Given the description of an element on the screen output the (x, y) to click on. 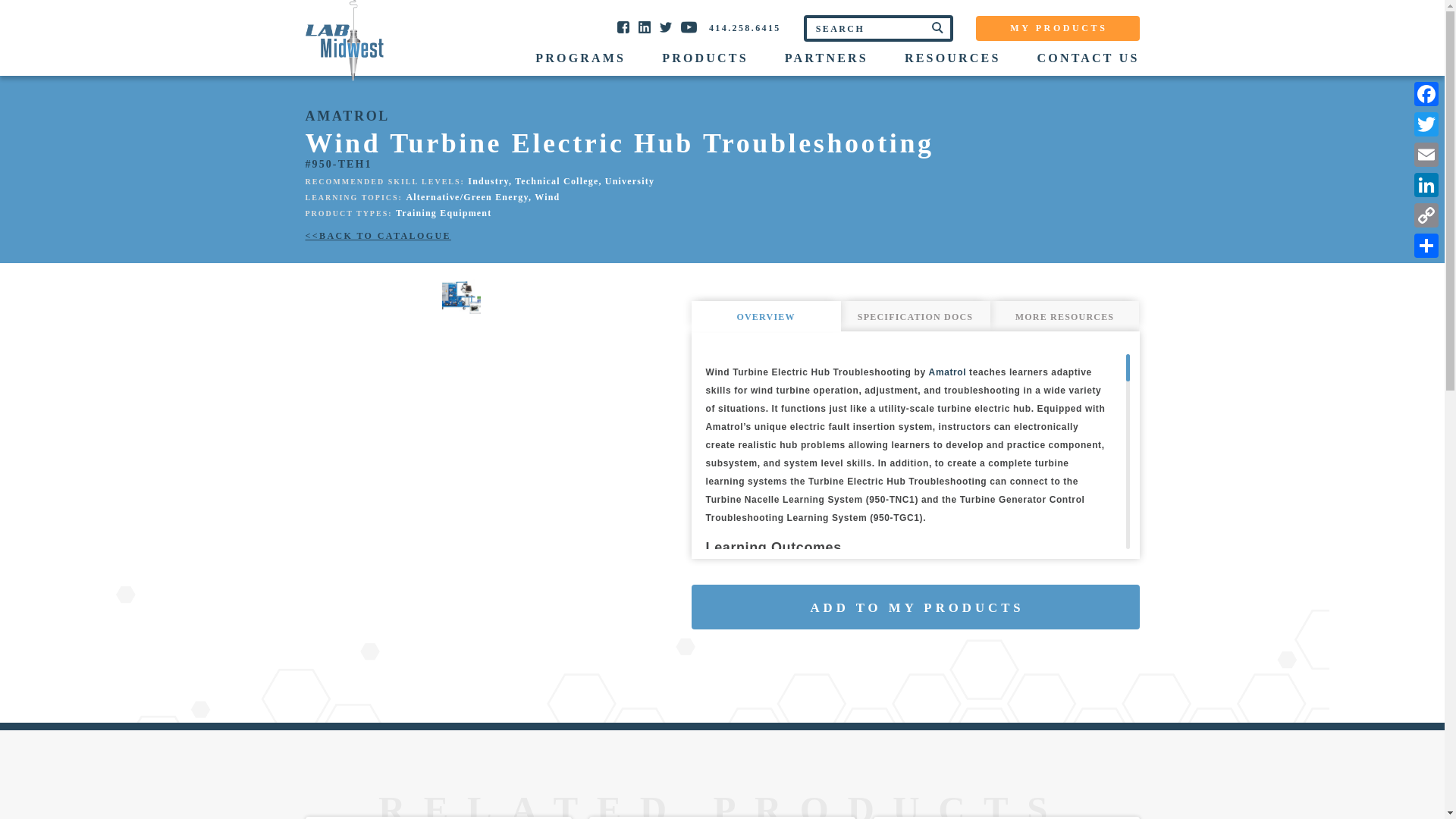
414.258.6415 (744, 27)
PROGRAMS (580, 57)
Copy Link (1425, 214)
PARTNERS (825, 57)
LinkedIn (1425, 184)
MY PRODUCTS (1057, 28)
Twitter (1425, 123)
Facebook (1425, 93)
Email (1425, 154)
PRODUCTS (705, 57)
